Given the description of an element on the screen output the (x, y) to click on. 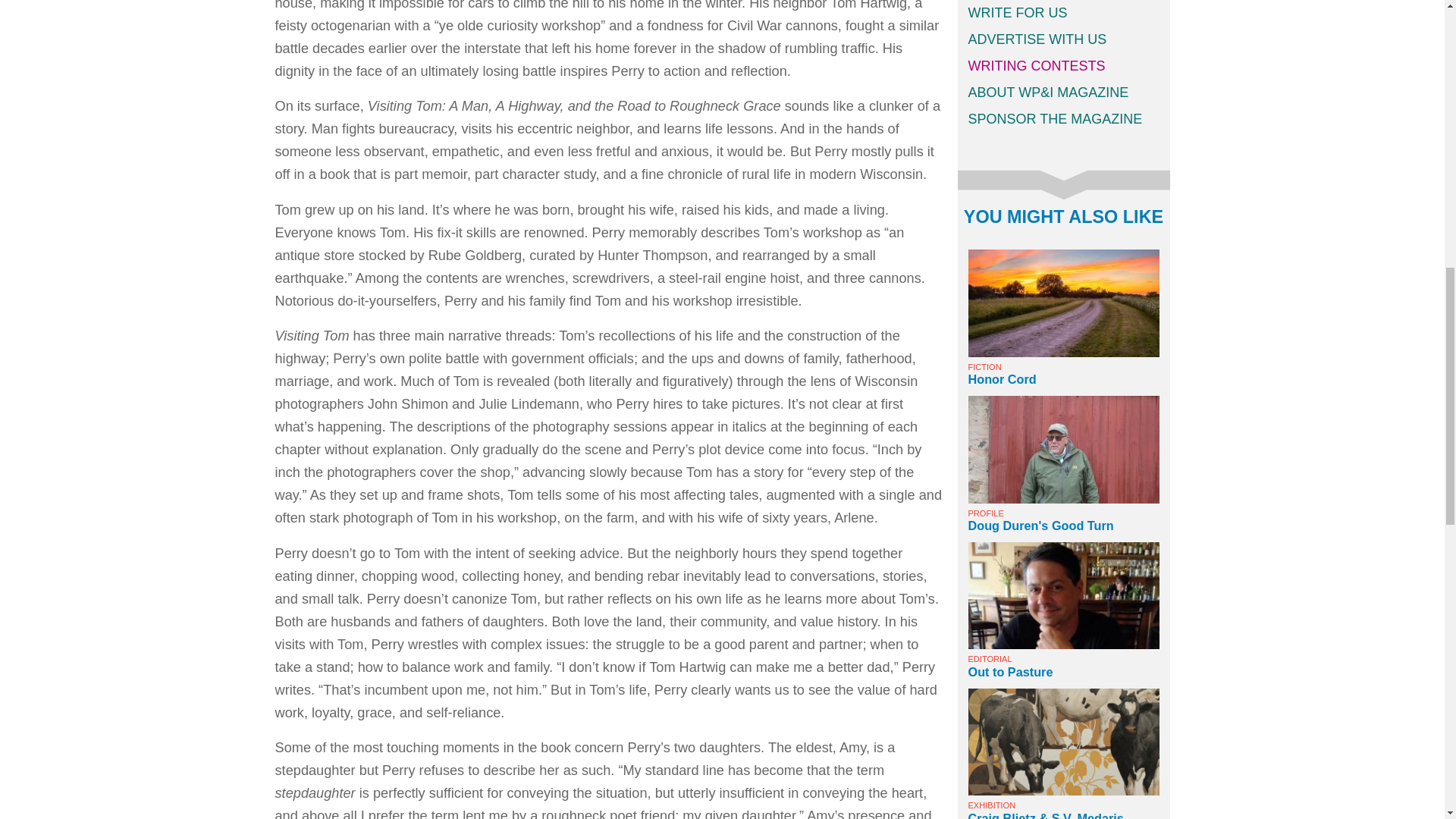
All photos by Jason A. Smith (1063, 449)
